Given the description of an element on the screen output the (x, y) to click on. 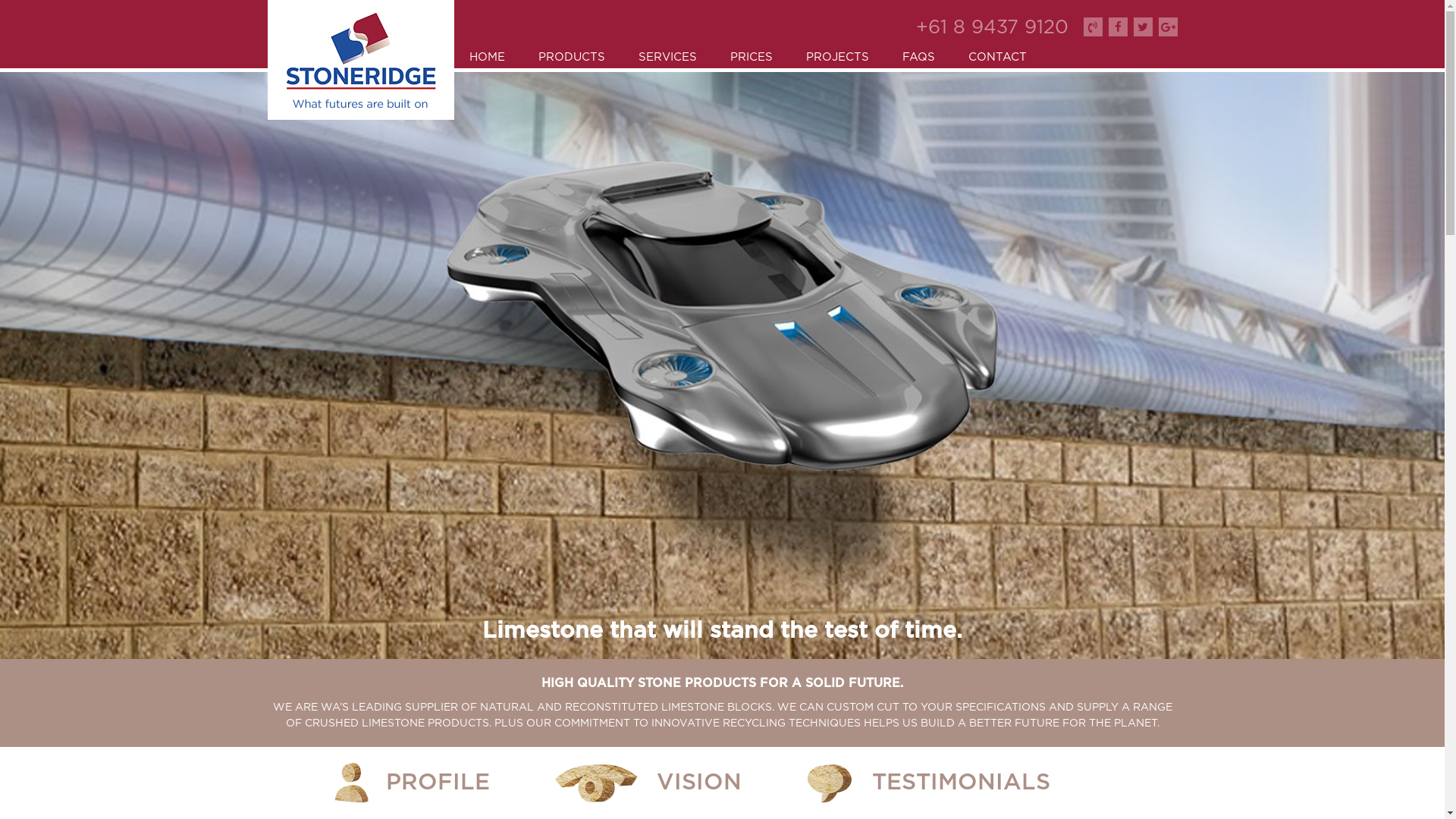
PROJECTS Element type: text (836, 56)
+61 8 9437 9120 Element type: text (992, 27)
SERVICES Element type: text (667, 56)
PRODUCTS Element type: text (571, 56)
PRICES Element type: text (750, 56)
PROFILE Element type: text (437, 782)
VISION Element type: text (698, 782)
TESTIMONIALS Element type: text (961, 782)
HOME Element type: text (486, 56)
CONTACT Element type: text (996, 56)
FAQS Element type: text (918, 56)
